Given the description of an element on the screen output the (x, y) to click on. 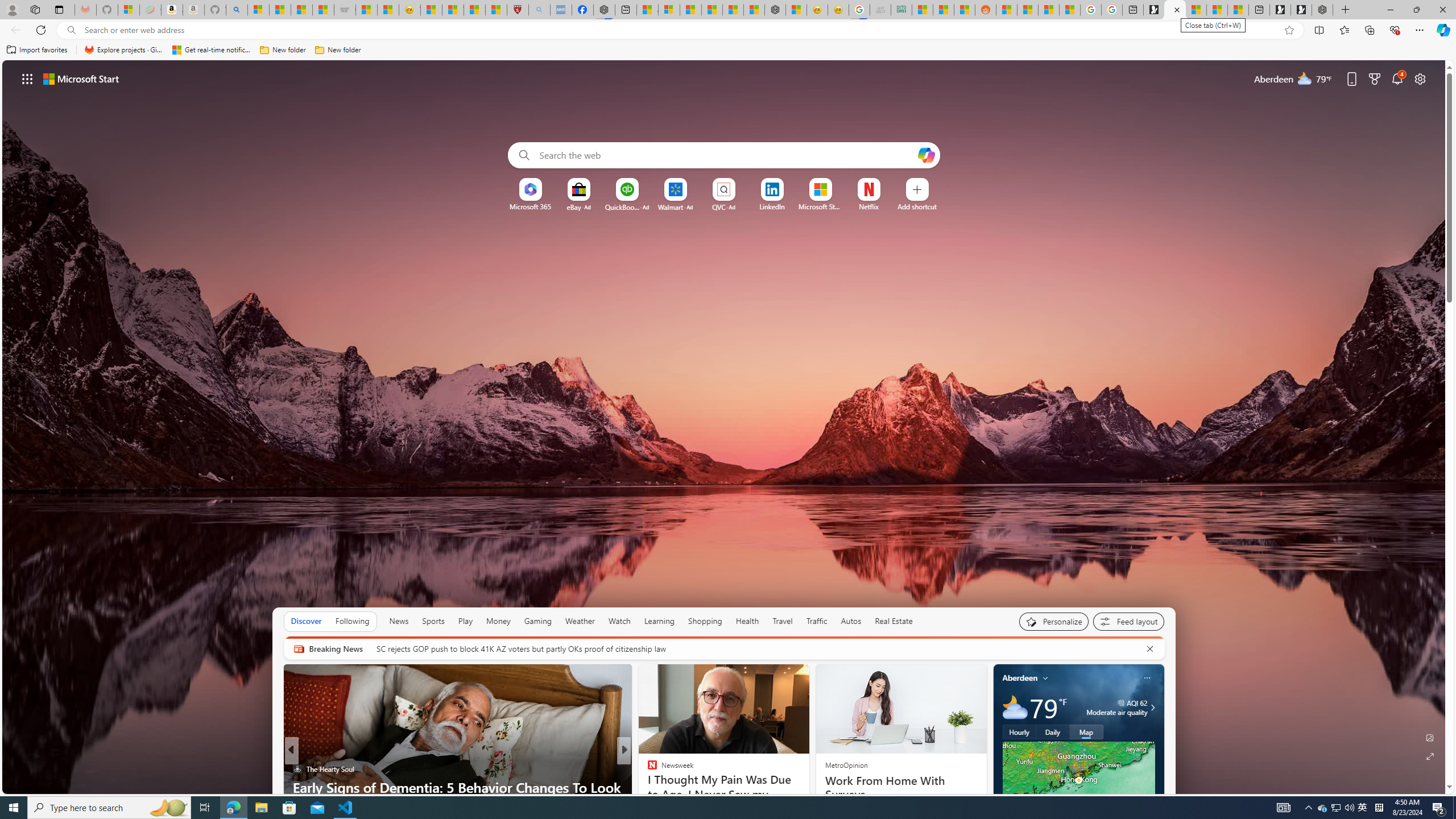
R******* | Trusted Community Engagement and Contributions (1006, 9)
aqi-icon (1121, 702)
The Hearty Soul (296, 768)
Autos (850, 621)
Page settings (1420, 78)
Favorites bar (728, 49)
Early Signs of Dementia: 5 Behavior Changes To Look Out For (457, 796)
Aberdeen (1019, 678)
